Given the description of an element on the screen output the (x, y) to click on. 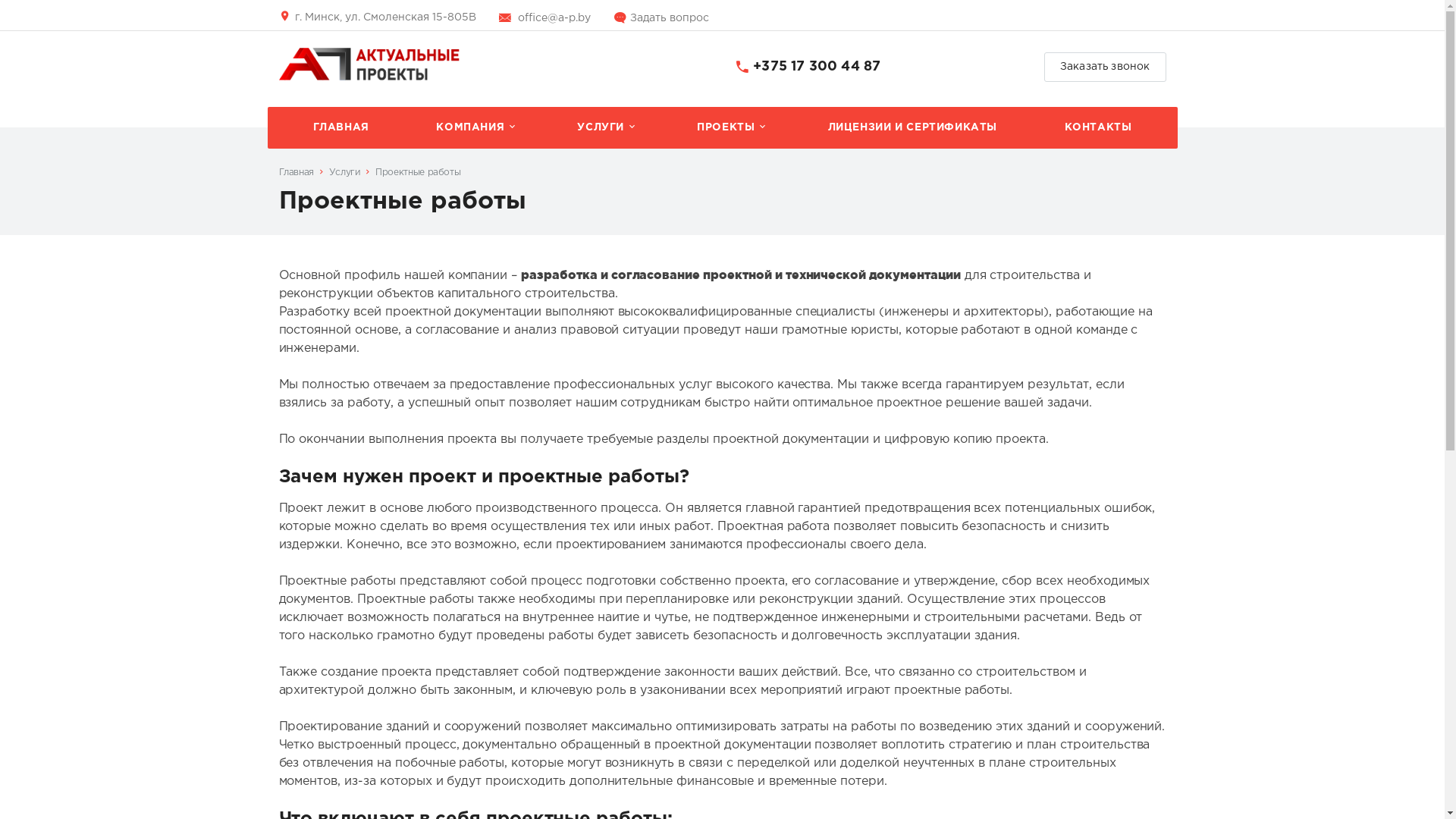
+375 17 300 44 87 Element type: text (816, 66)
office@a-p.by Element type: text (553, 17)
